Given the description of an element on the screen output the (x, y) to click on. 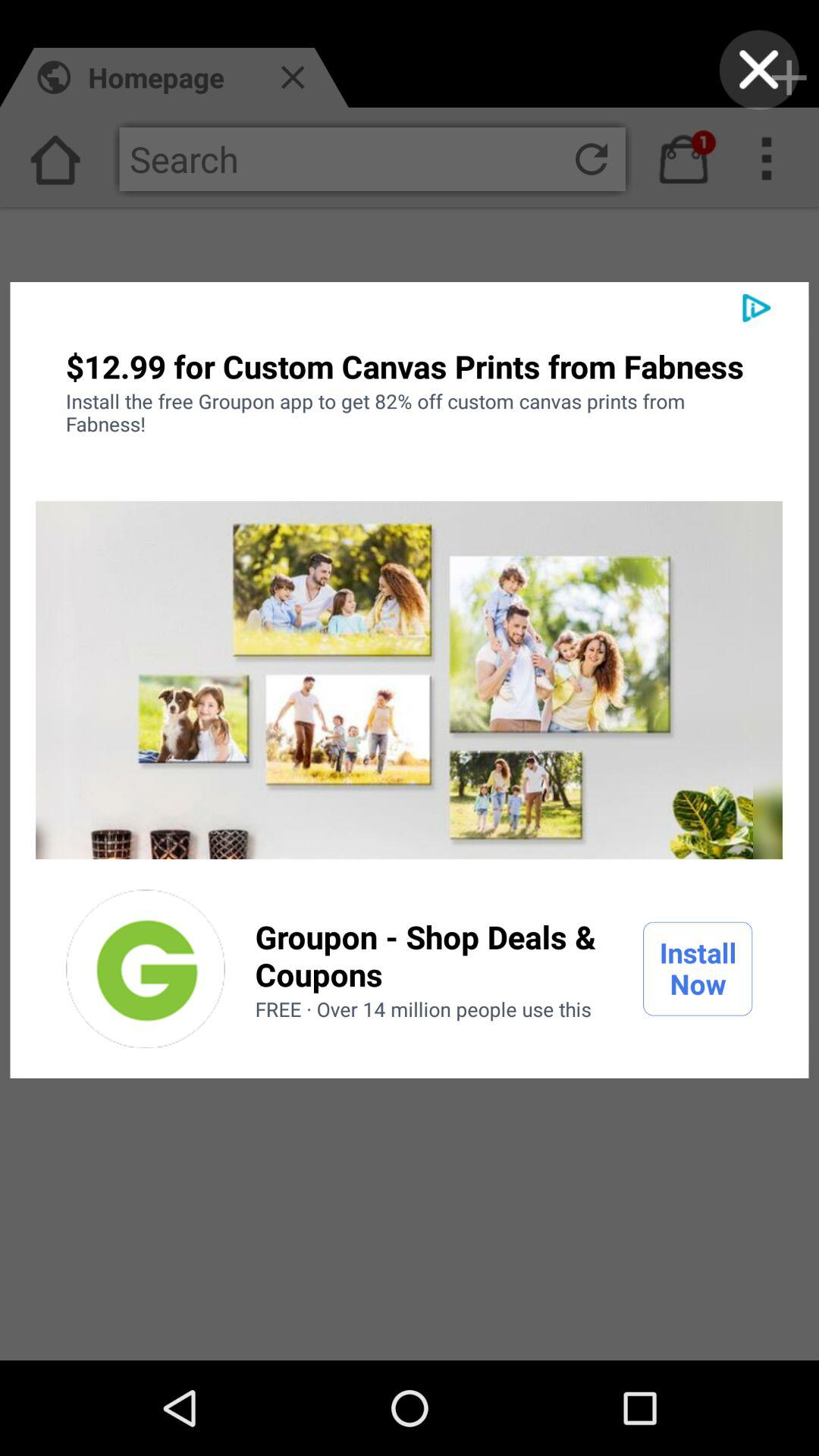
flip to the install now item (697, 968)
